Given the description of an element on the screen output the (x, y) to click on. 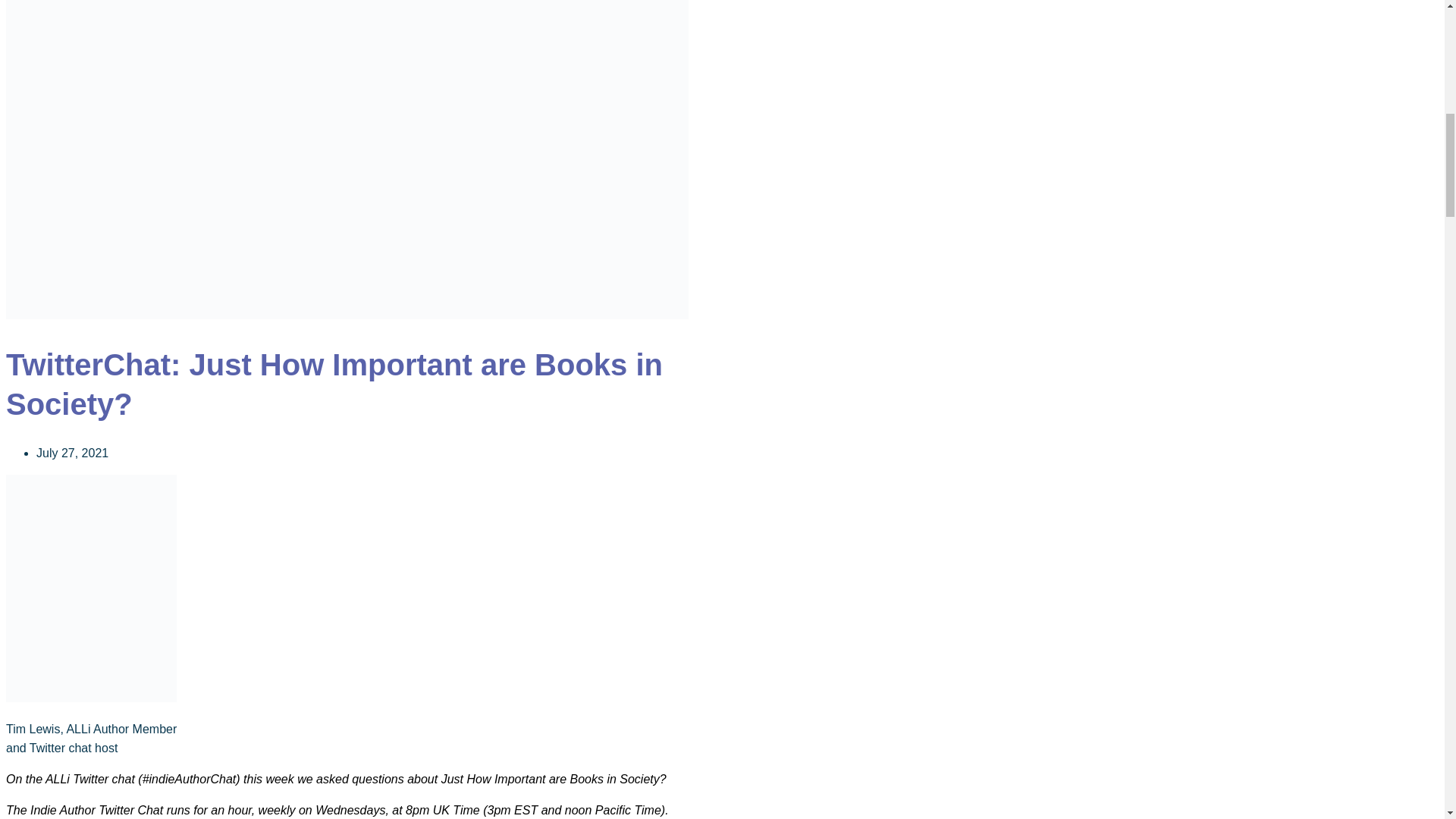
Enlarge Image (346, 314)
